Given the description of an element on the screen output the (x, y) to click on. 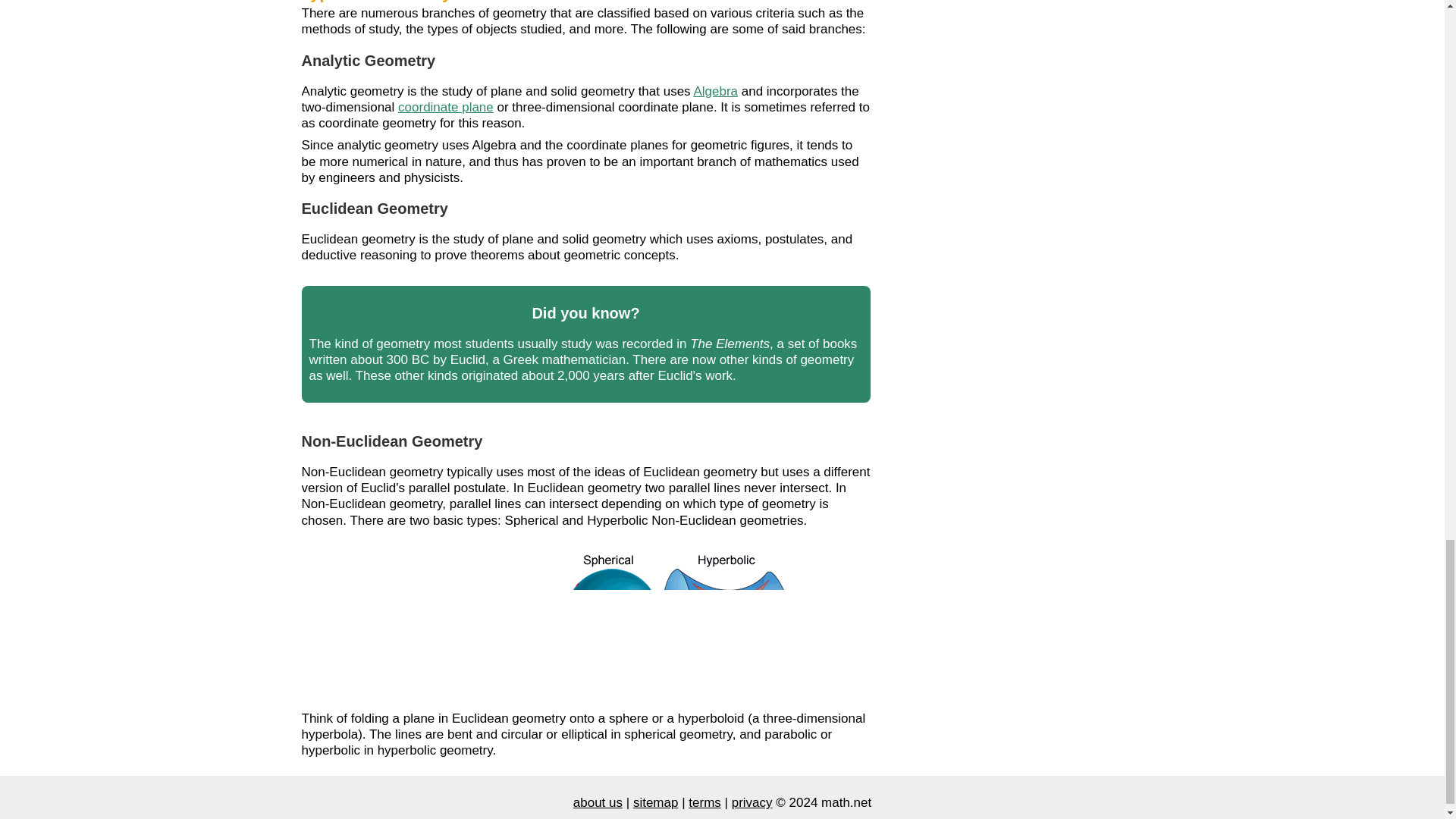
coordinate plane (445, 106)
Algebra (715, 90)
privacy (752, 802)
about us (598, 802)
terms (704, 802)
sitemap (655, 802)
